Given the description of an element on the screen output the (x, y) to click on. 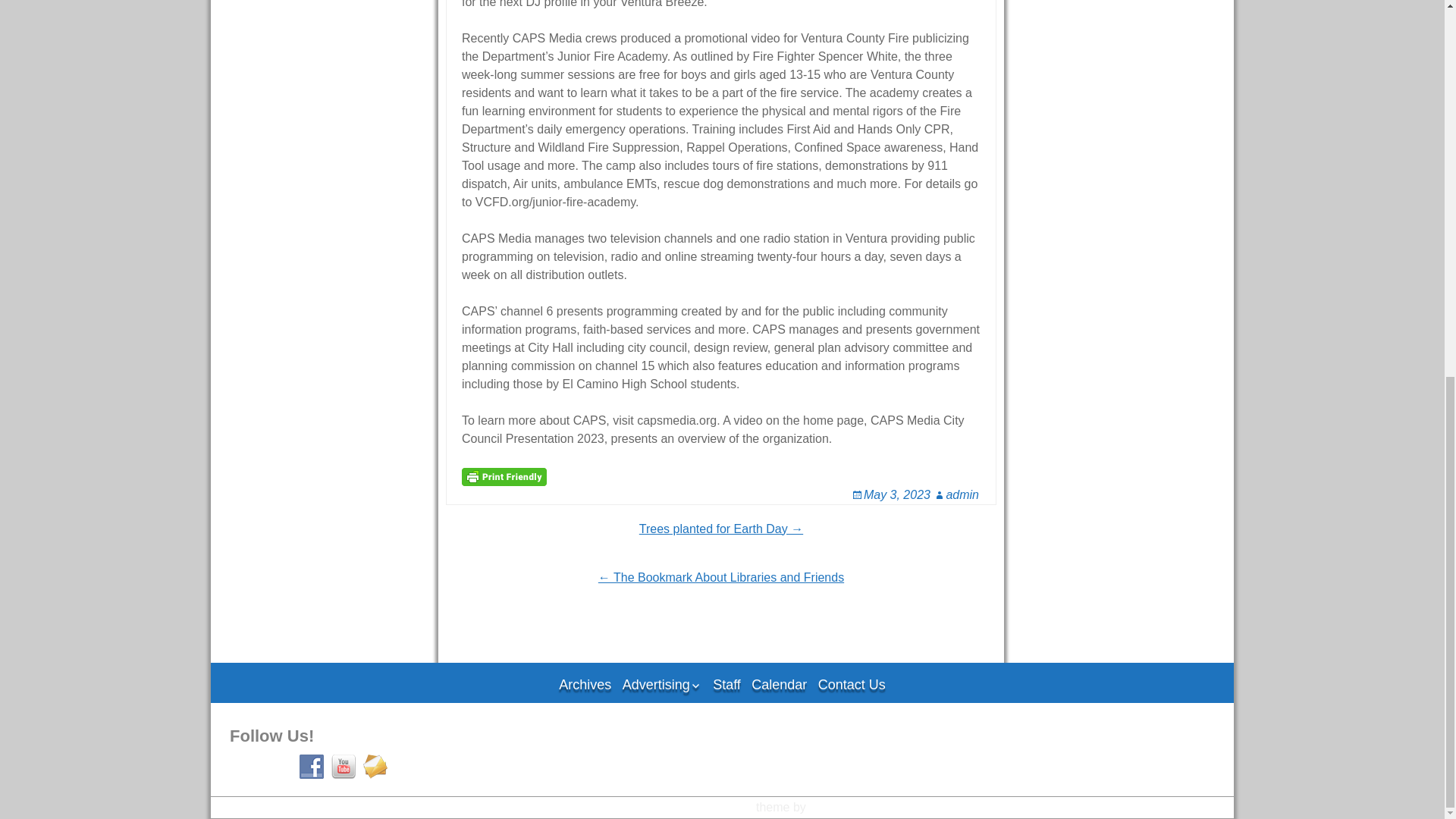
Follow Us on E-mail (374, 766)
Follow Us on YouTube (343, 766)
Follow Us on Facebook (311, 766)
